Given the description of an element on the screen output the (x, y) to click on. 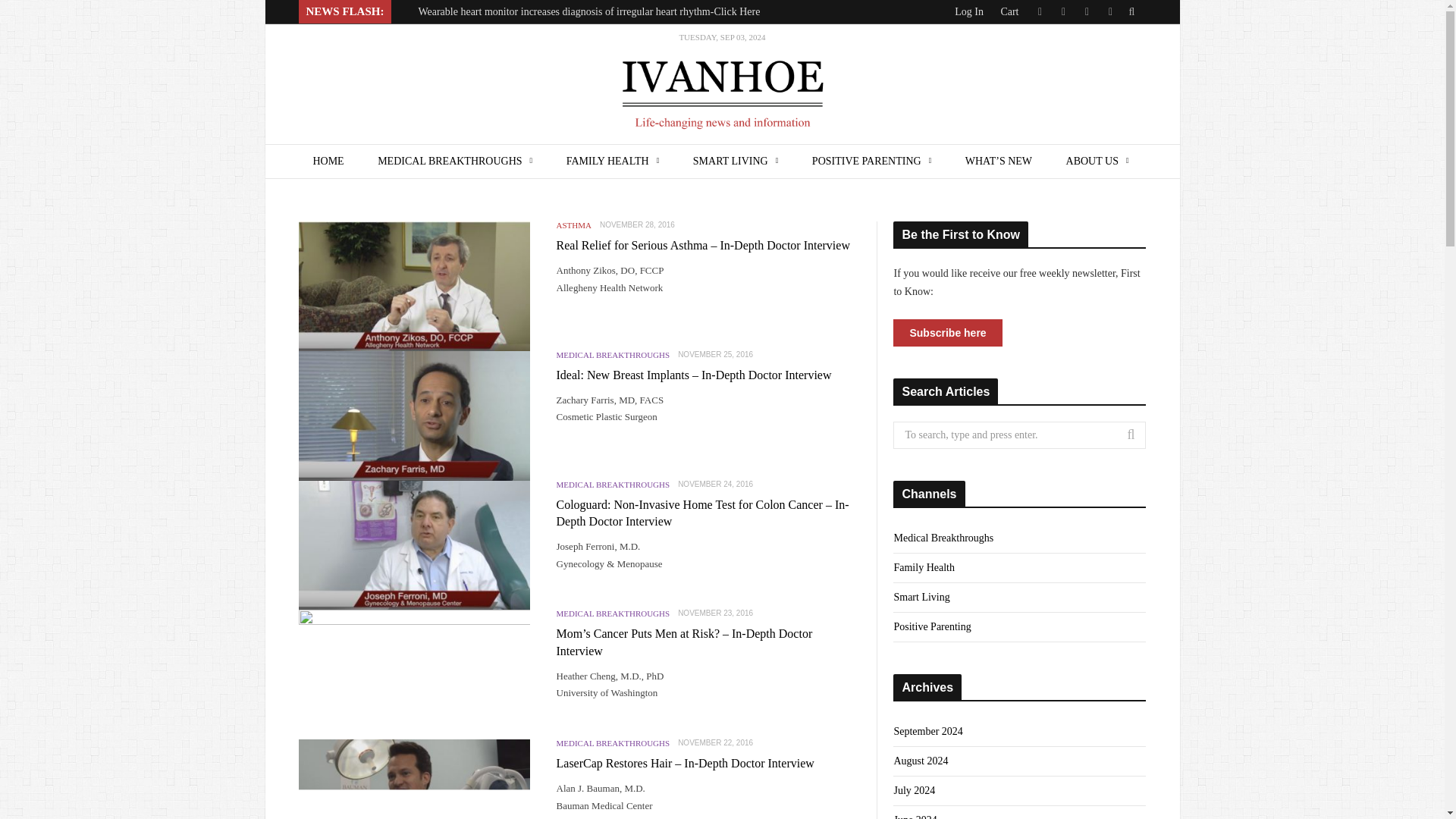
Twitter (1039, 11)
TUESDAY, SEP 03, 2024 (722, 84)
Youtube (1109, 11)
HOME (327, 161)
LinkedIn (1087, 11)
FAMILY HEALTH (613, 161)
Cart (1008, 11)
Log In (969, 11)
Ivanhoe Broadcast News, Inc. (722, 84)
